Given the description of an element on the screen output the (x, y) to click on. 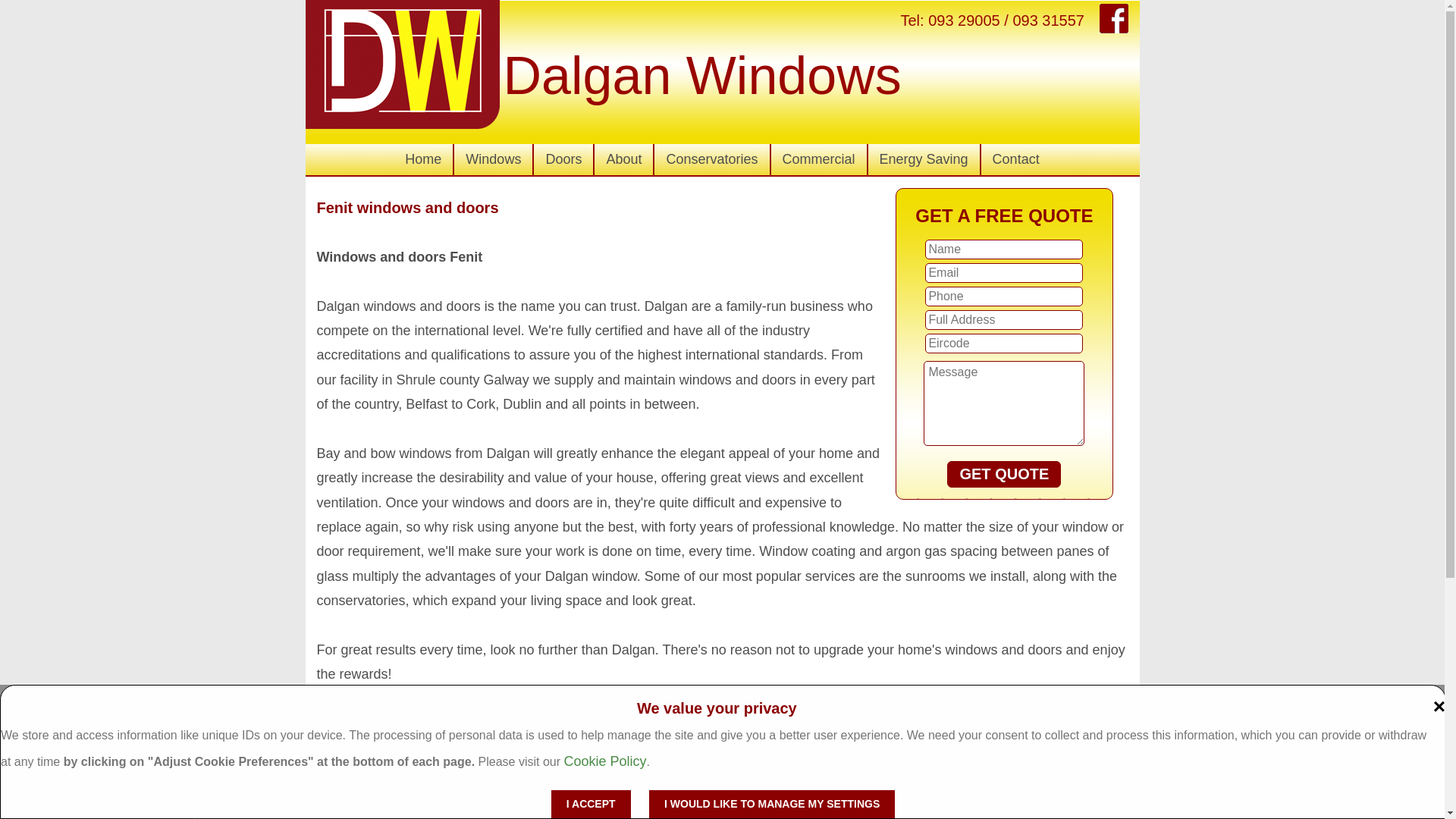
Home (422, 159)
Dalgan windows and doors facebook (1113, 18)
Windows (493, 159)
